Given the description of an element on the screen output the (x, y) to click on. 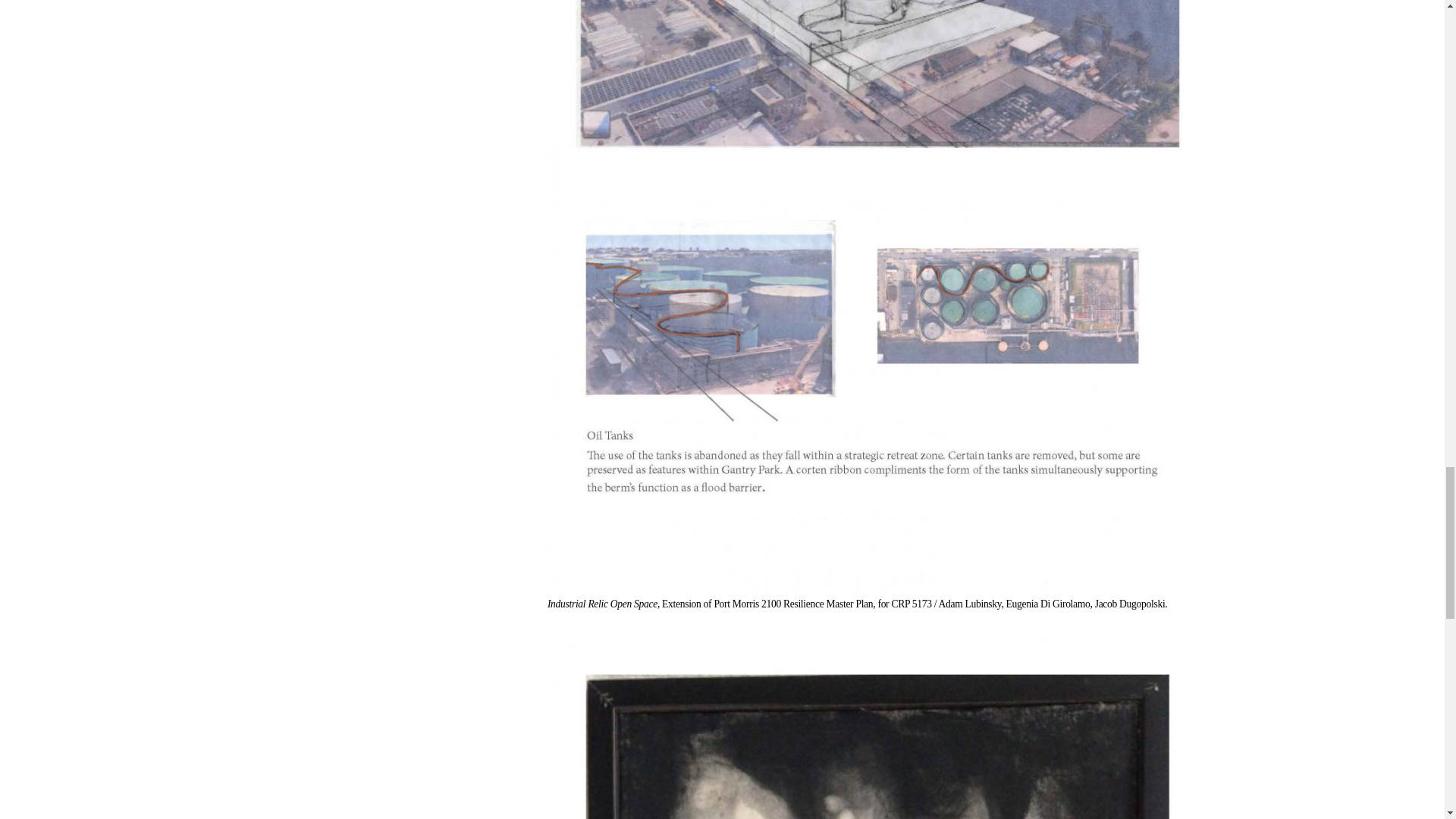
Human Torso, charcoal, 24 (877, 721)
